Given the description of an element on the screen output the (x, y) to click on. 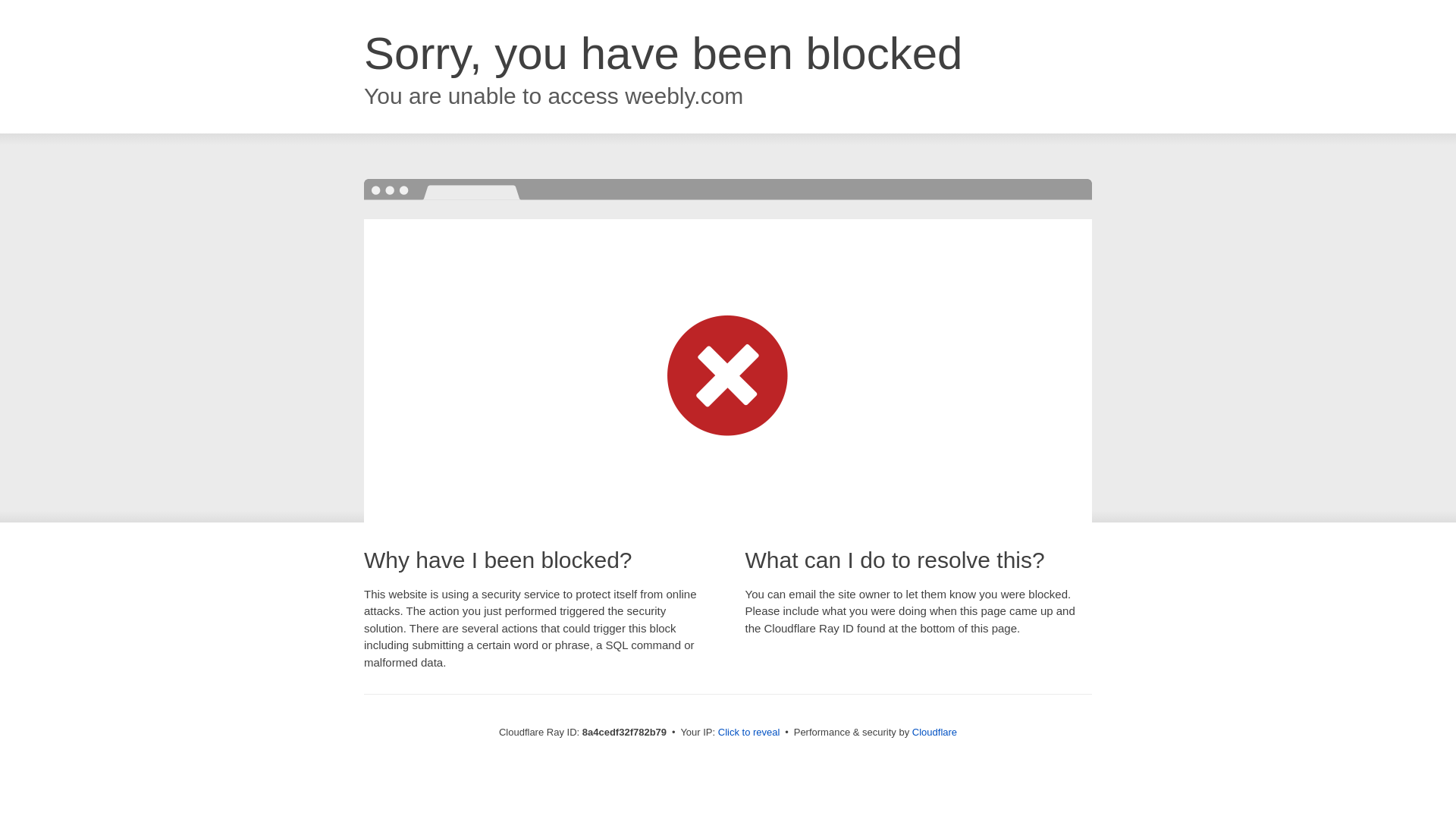
Click to reveal (748, 732)
Cloudflare (934, 731)
